Given the description of an element on the screen output the (x, y) to click on. 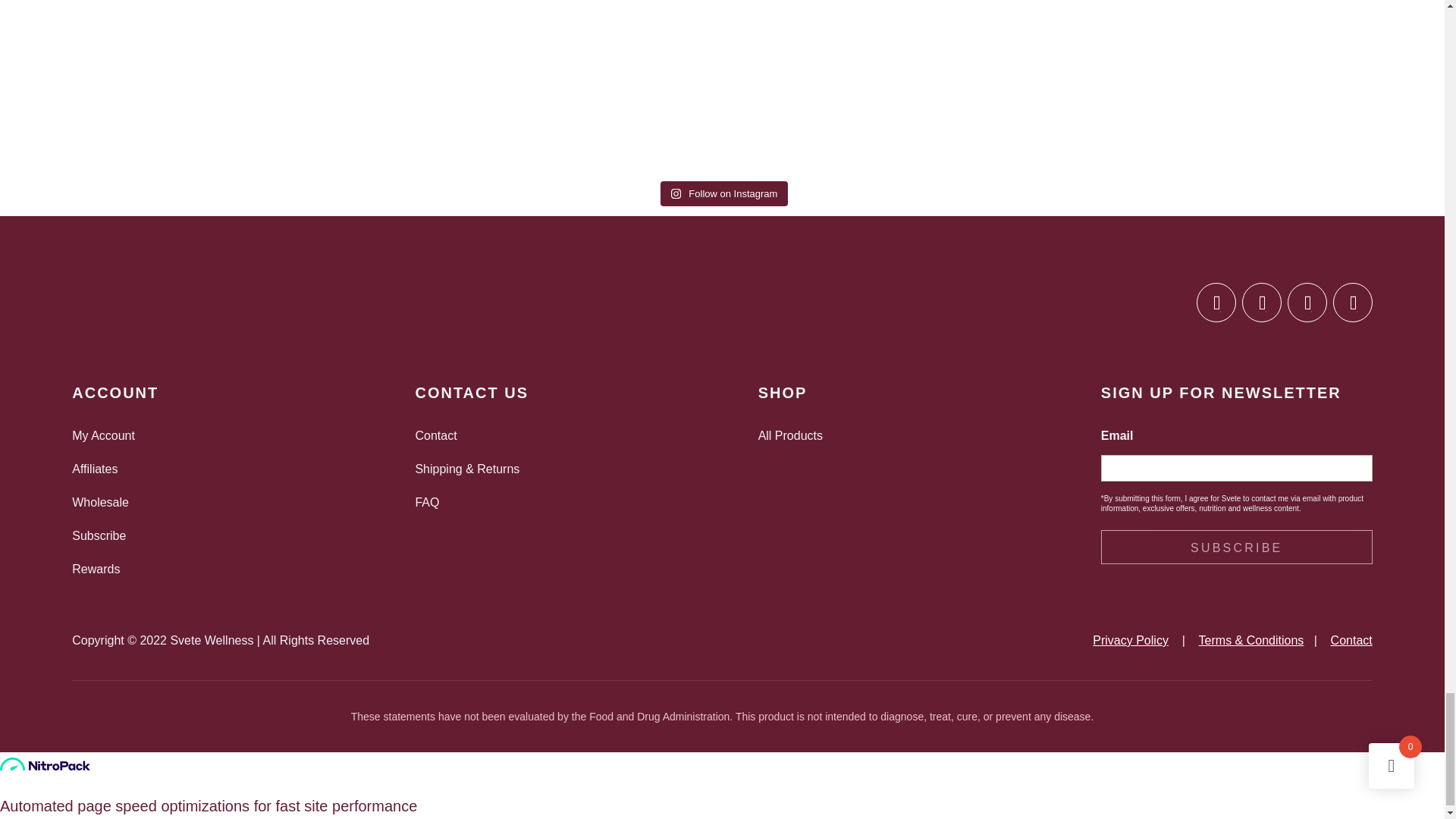
Follow on Twitter (1306, 302)
Follow on TikTok (1353, 302)
SUBSCRIBE (1236, 546)
Follow on Facebook (1216, 302)
Follow on Instagram (1261, 302)
svete-wellness-logo (147, 304)
